Given the description of an element on the screen output the (x, y) to click on. 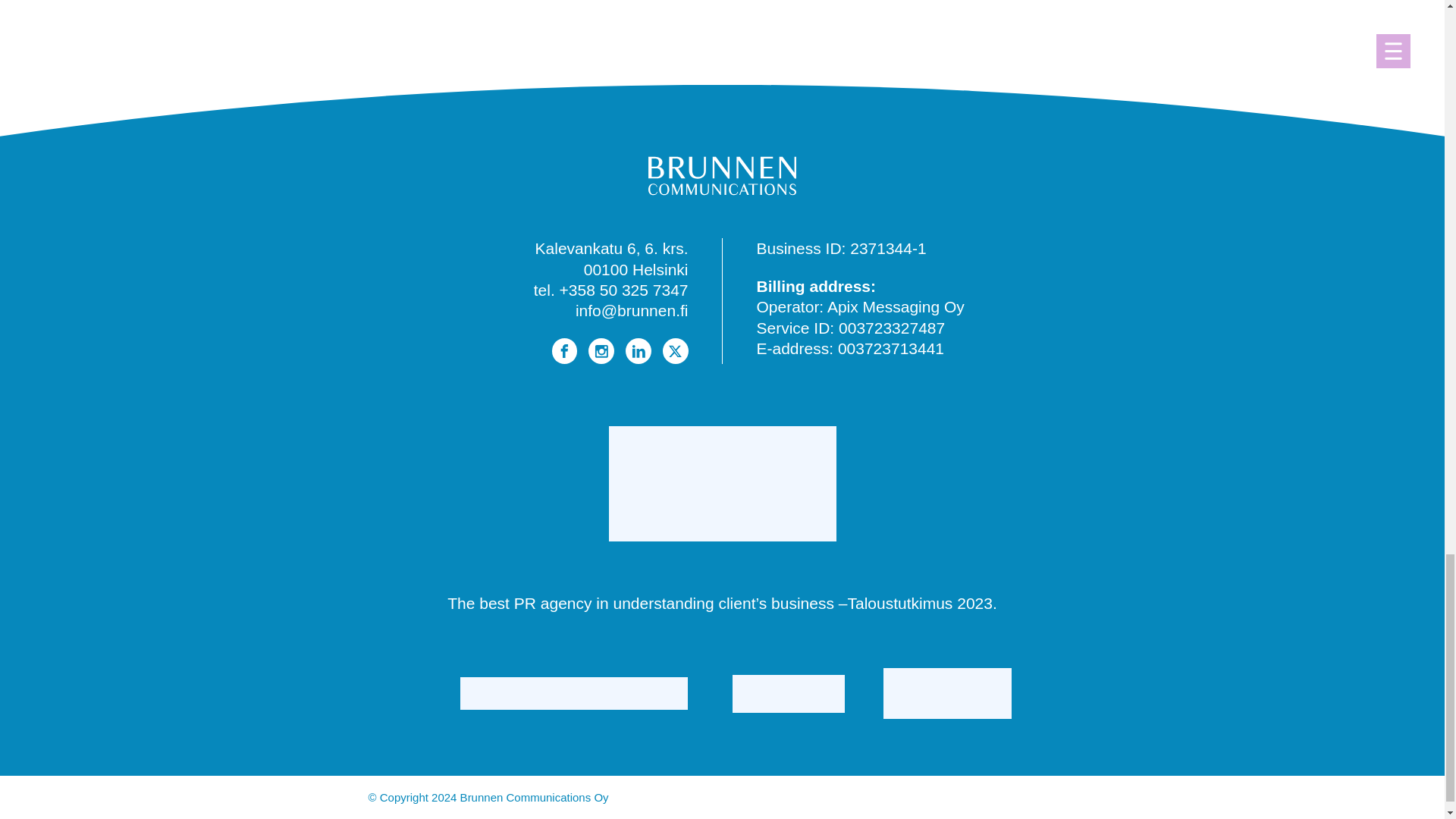
00100 Helsinki (635, 269)
Kalevankatu 6, 6. krs. (611, 248)
